Given the description of an element on the screen output the (x, y) to click on. 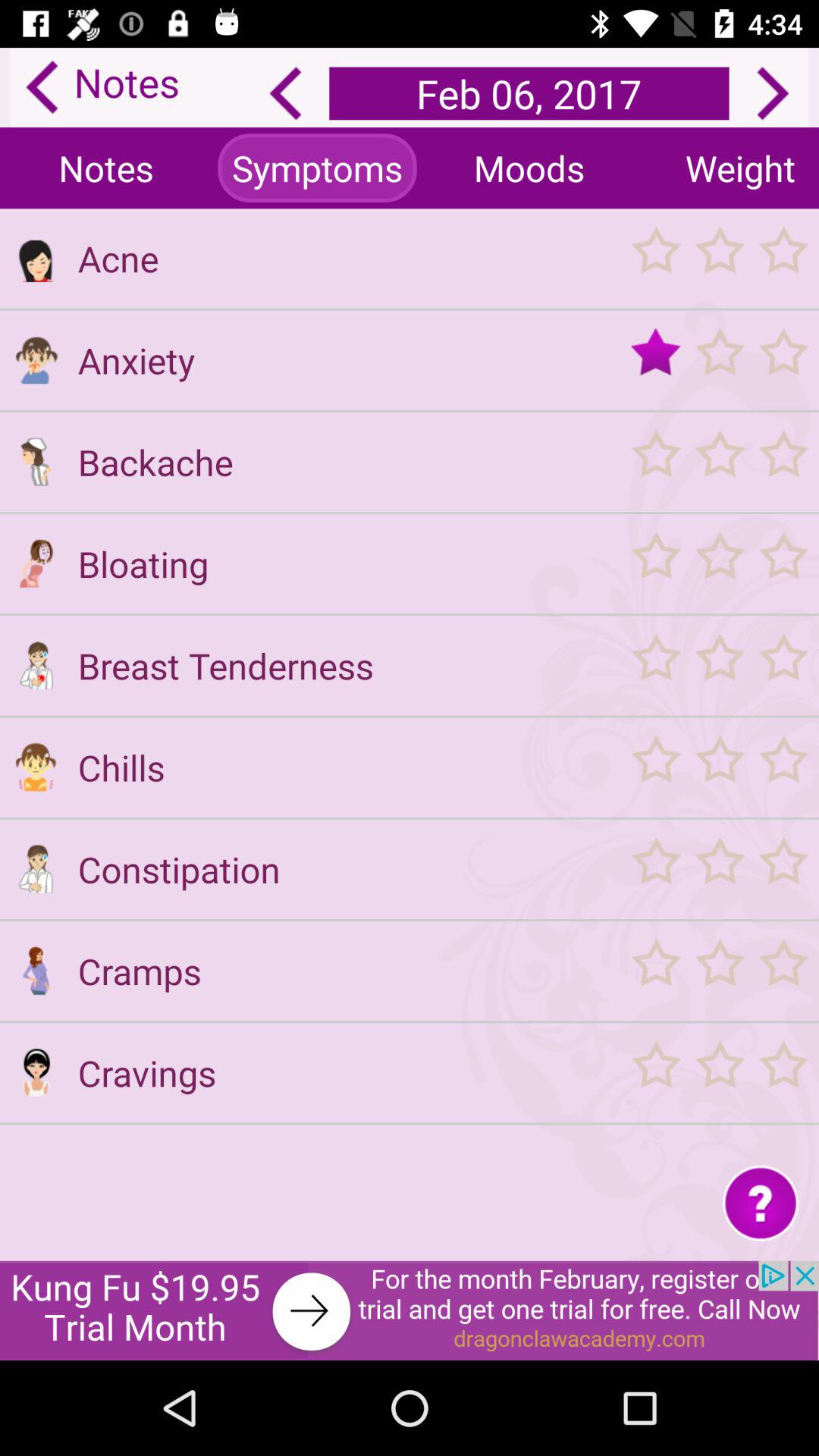
select option (719, 868)
